Given the description of an element on the screen output the (x, y) to click on. 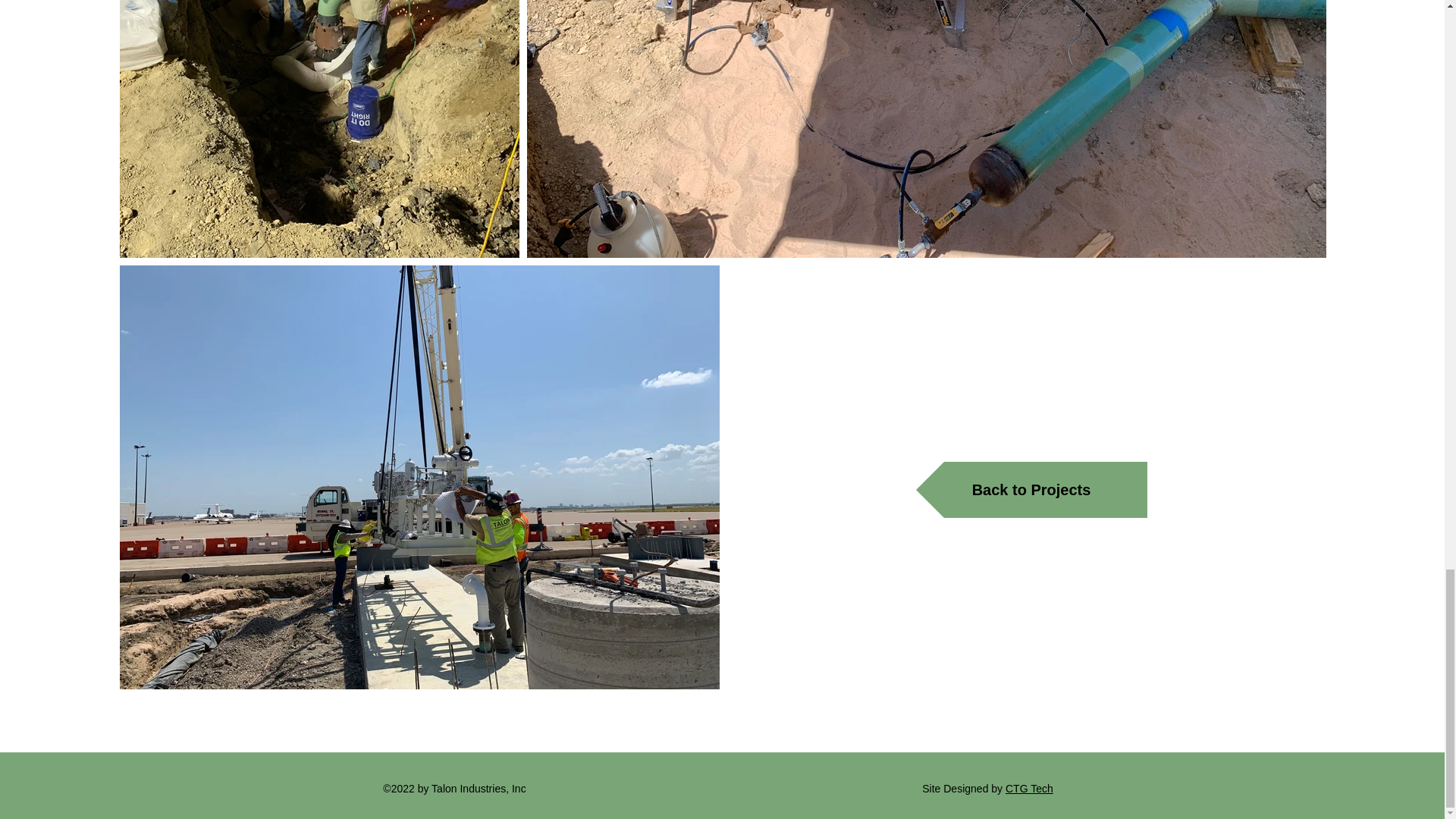
CTG Tech (1029, 788)
Back to Projects (1031, 489)
